Given the description of an element on the screen output the (x, y) to click on. 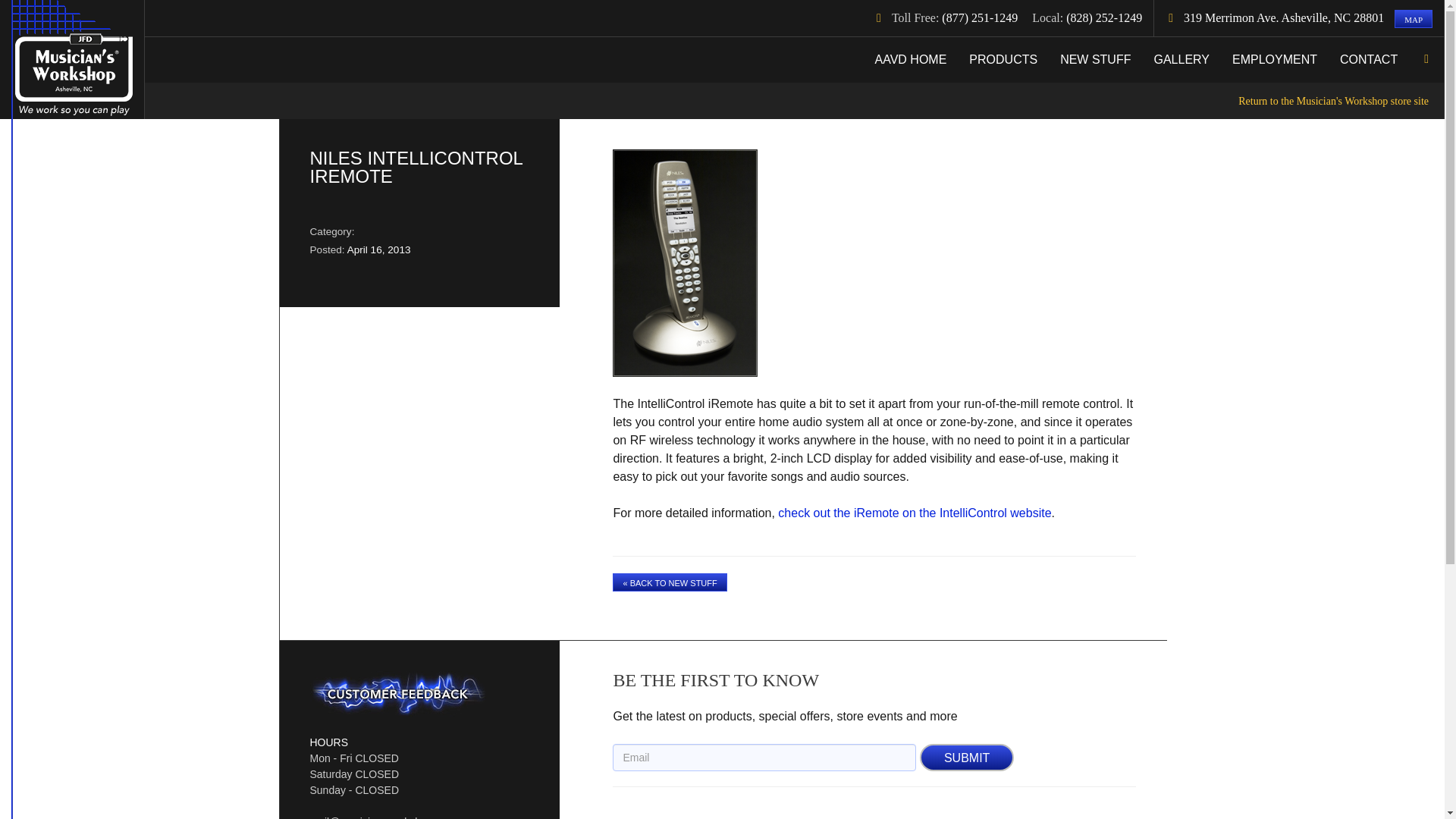
Feedback (397, 693)
MAP (1413, 18)
Back to New Stuff (669, 582)
Get Directions (1413, 18)
EMPLOYMENT (1274, 59)
MUSICIAN'S WORKSHOP (71, 58)
CONTACT (1368, 59)
GALLERY (1181, 59)
Submit (966, 757)
check out the iRemote on the IntelliControl website (914, 512)
Send Us Your Feedback (397, 693)
Return to the Musician's Workshop store site (794, 100)
Submit (966, 757)
PRODUCTS (1003, 59)
Musician's Workshop (71, 58)
